Given the description of an element on the screen output the (x, y) to click on. 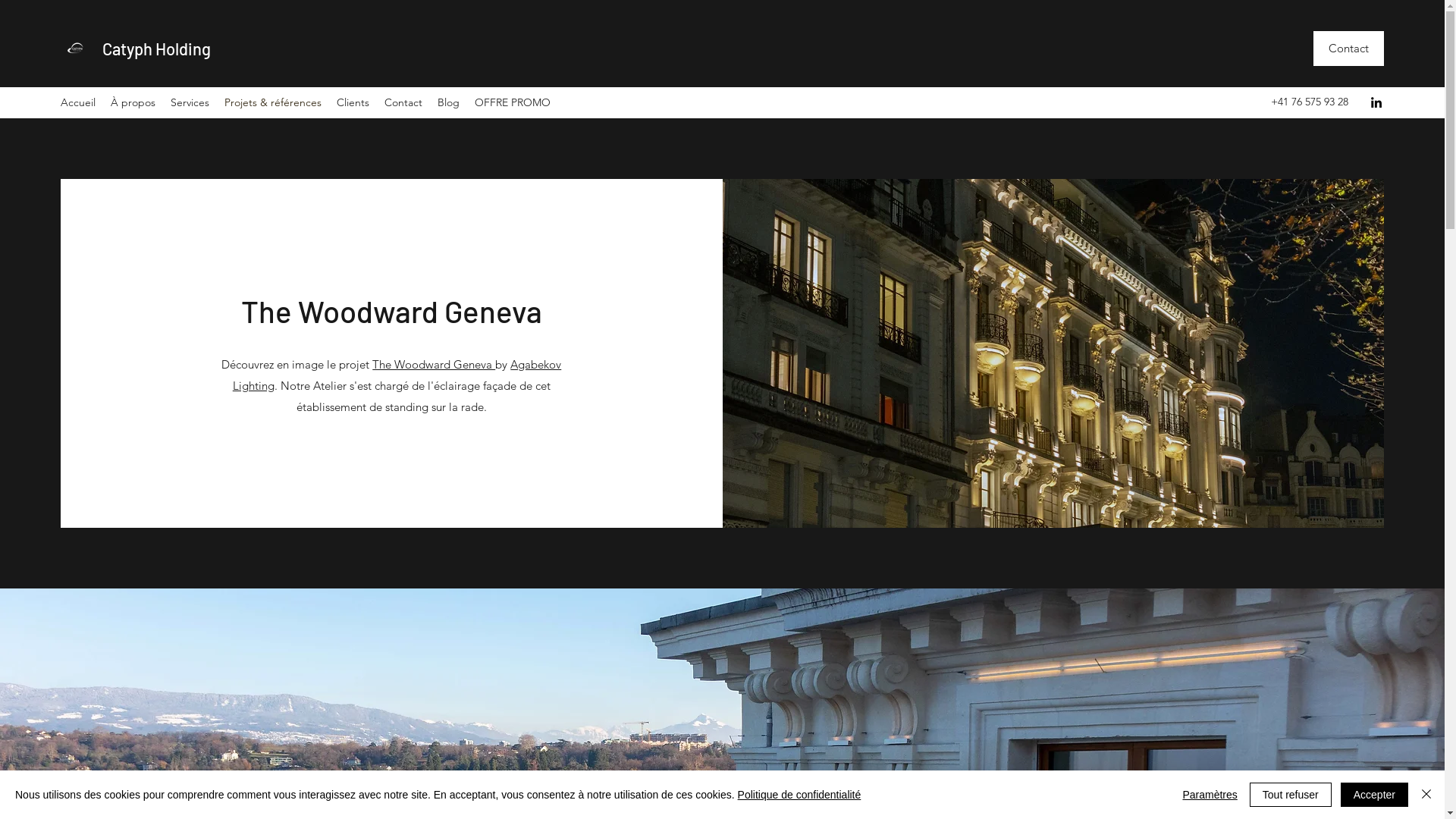
Services Element type: text (189, 102)
Catyph Holding Element type: text (156, 48)
The Woodward Geneva Element type: text (433, 364)
Contact Element type: text (1348, 48)
Contact Element type: text (402, 102)
Accepter Element type: text (1374, 794)
Tout refuser Element type: text (1290, 794)
OFFRE PROMO Element type: text (512, 102)
Agabekov Lighting Element type: text (396, 374)
Accueil Element type: text (78, 102)
Blog Element type: text (448, 102)
Clients Element type: text (352, 102)
